Given the description of an element on the screen output the (x, y) to click on. 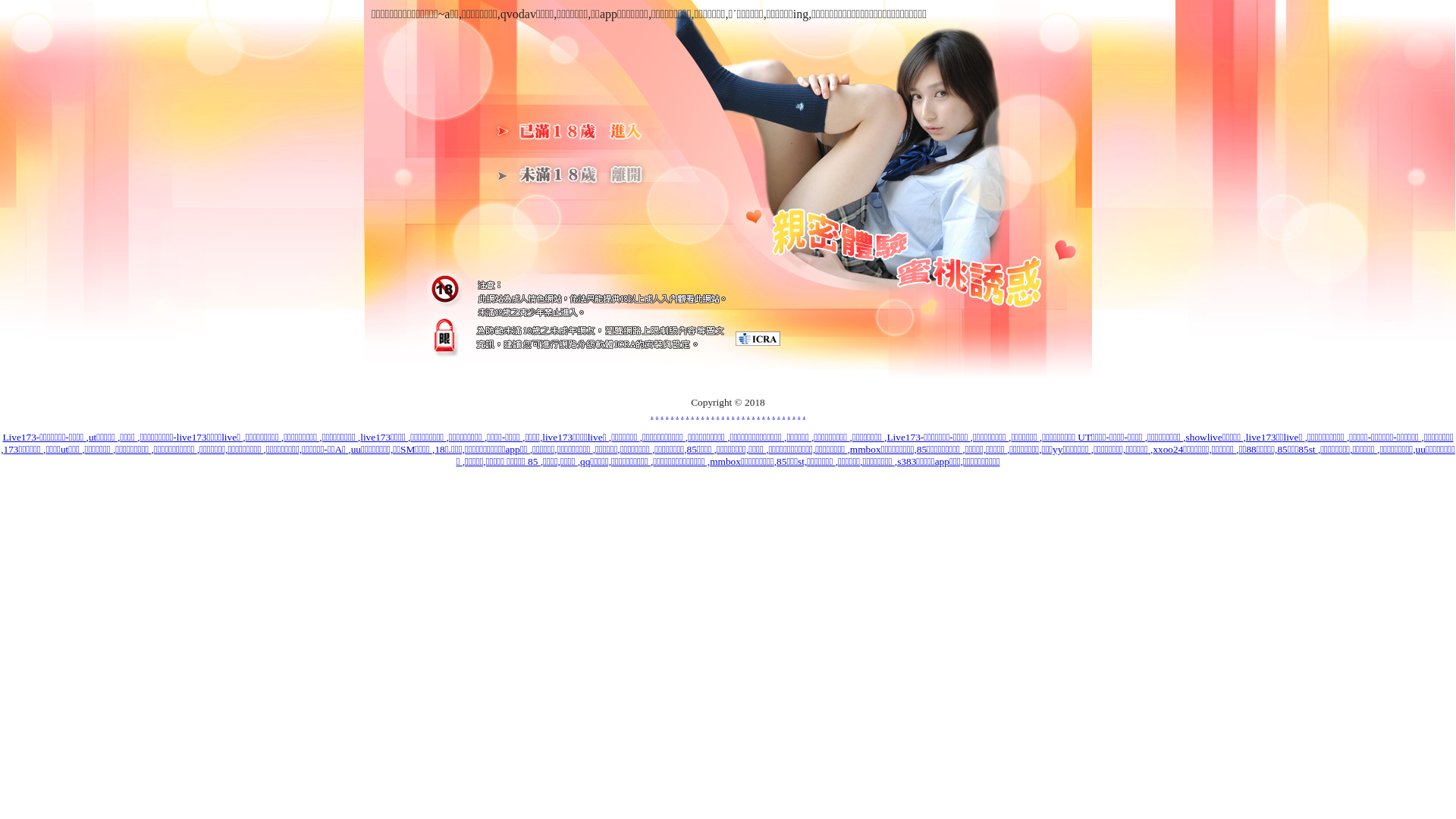
. Element type: text (738, 414)
. Element type: text (697, 414)
. Element type: text (687, 414)
. Element type: text (661, 414)
. Element type: text (727, 414)
. Element type: text (672, 414)
. Element type: text (702, 414)
. Element type: text (742, 414)
. Element type: text (783, 414)
. Element type: text (778, 414)
. Element type: text (717, 414)
. Element type: text (757, 414)
. Element type: text (666, 414)
. Element type: text (676, 414)
. Element type: text (763, 414)
. Element type: text (773, 414)
. Element type: text (732, 414)
. Element type: text (753, 414)
. Element type: text (747, 414)
. Element type: text (804, 414)
. Element type: text (681, 414)
. Element type: text (793, 414)
. Element type: text (768, 414)
. Element type: text (712, 414)
. Element type: text (722, 414)
. Element type: text (692, 414)
. Element type: text (707, 414)
. Element type: text (788, 414)
. Element type: text (798, 414)
. Element type: text (651, 414)
. Element type: text (656, 414)
